Given the description of an element on the screen output the (x, y) to click on. 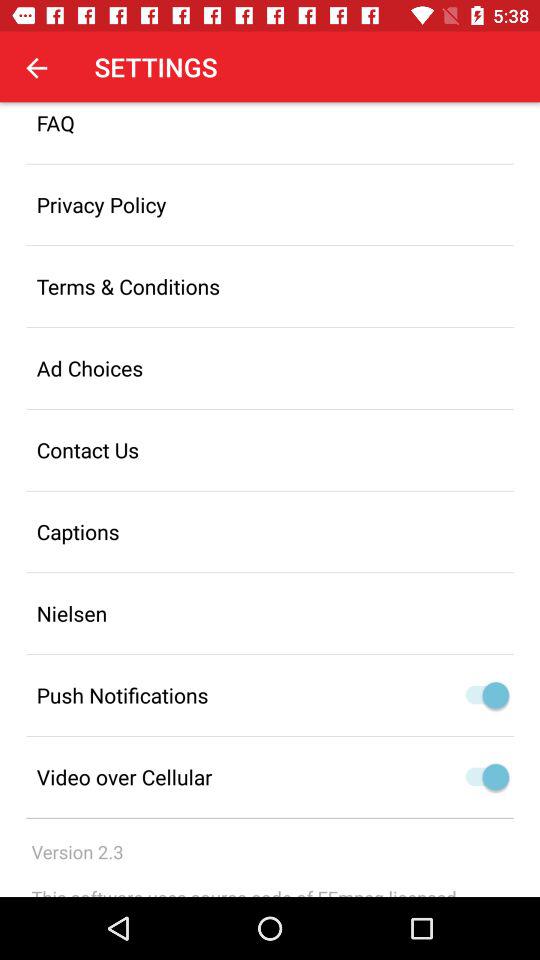
turn on app to the left of settings (36, 67)
